Given the description of an element on the screen output the (x, y) to click on. 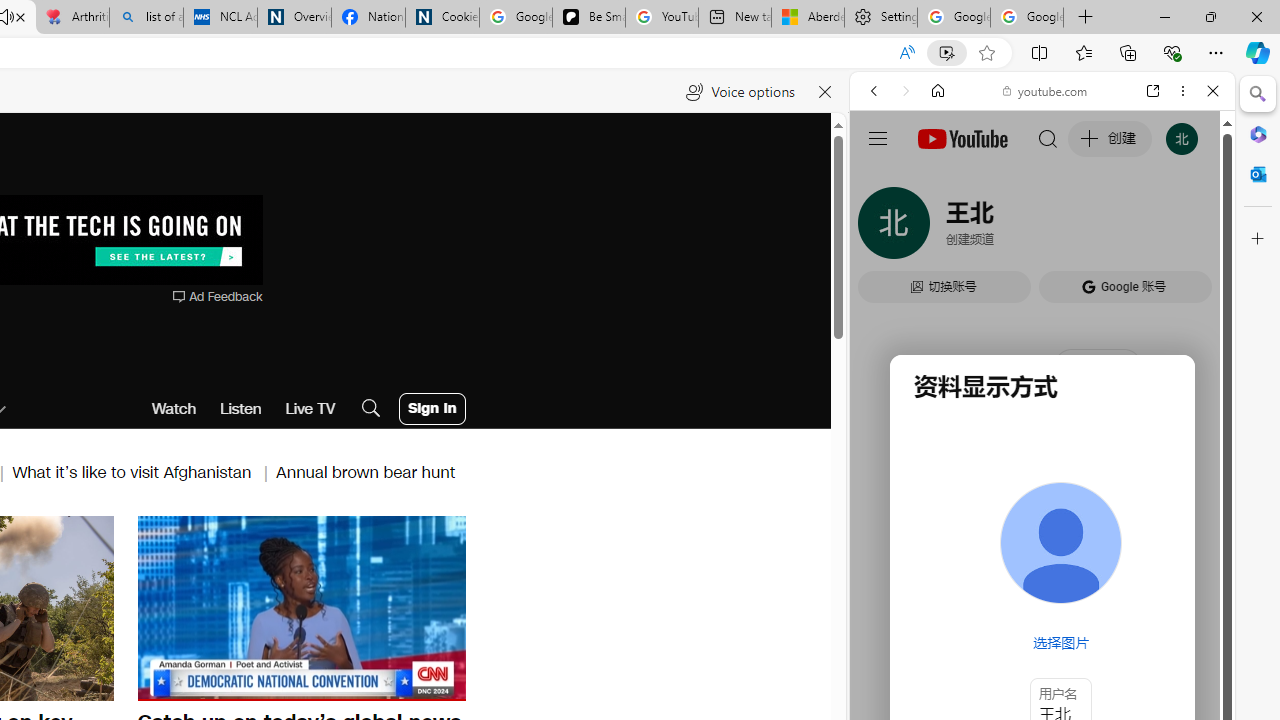
Fullscreen (438, 683)
